Given the description of an element on the screen output the (x, y) to click on. 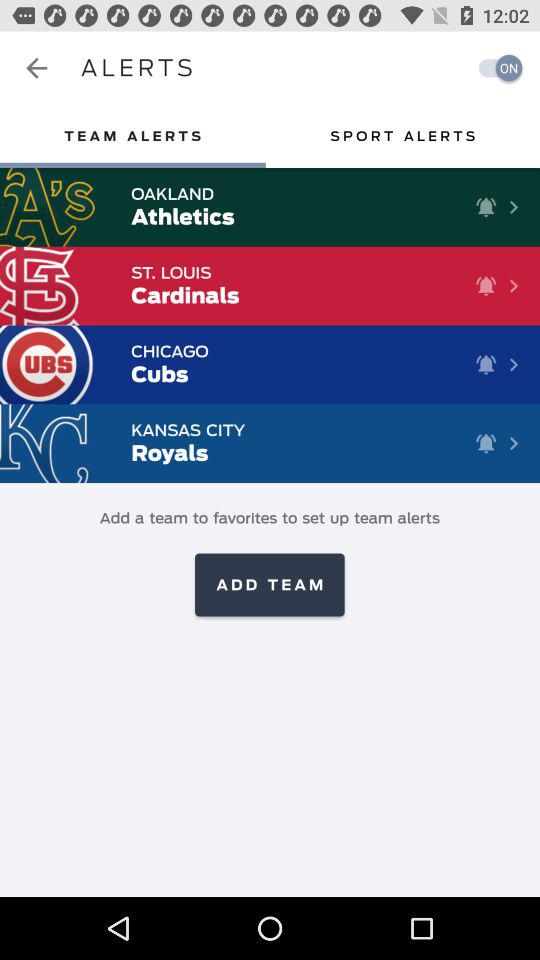
toggle alerts off (495, 67)
